Given the description of an element on the screen output the (x, y) to click on. 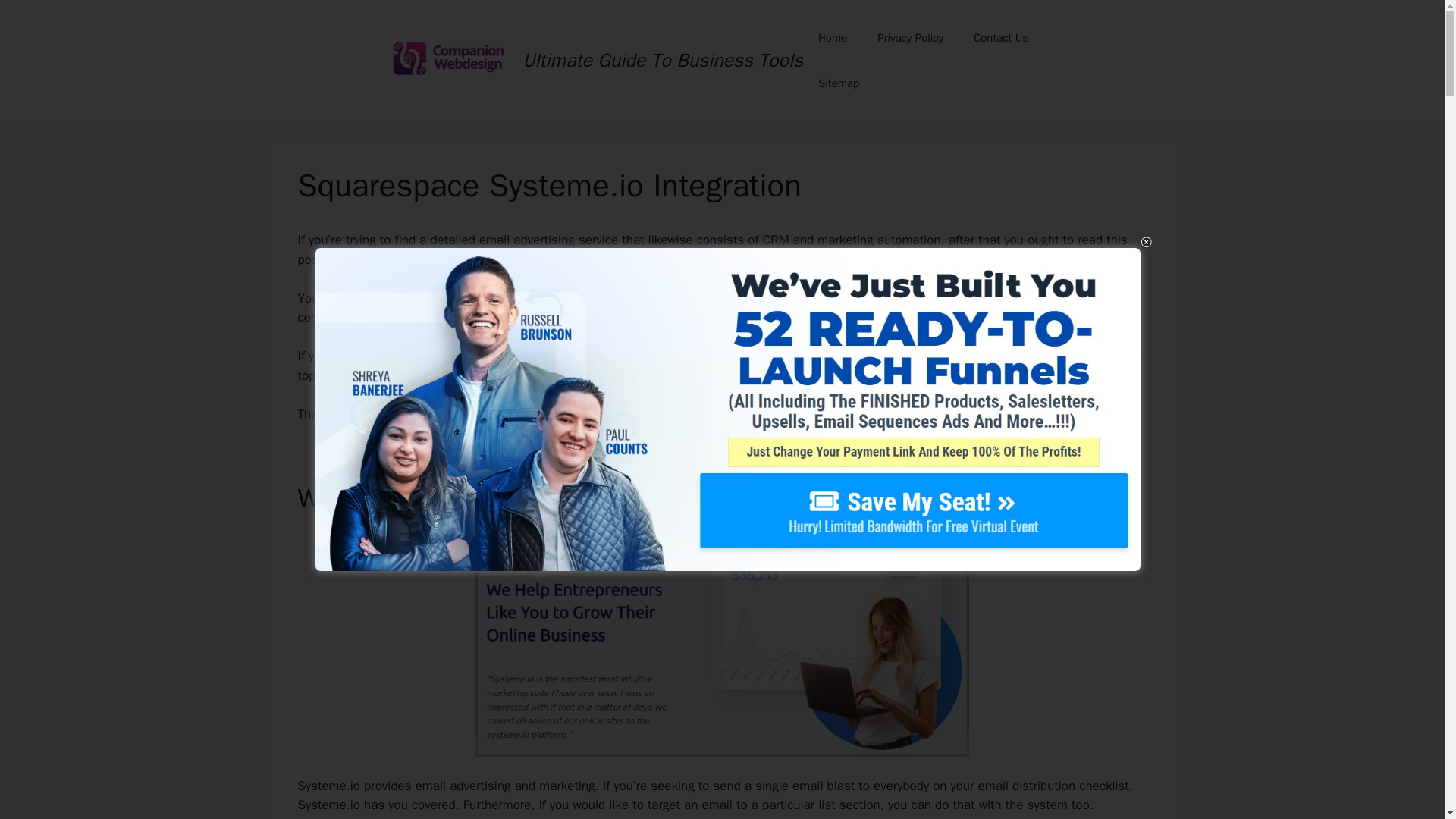
Sitemap (839, 83)
Contact Us (1000, 37)
Privacy Policy (909, 37)
Ultimate Guide To Business Tools (662, 60)
Close (1145, 242)
Home (832, 37)
